Given the description of an element on the screen output the (x, y) to click on. 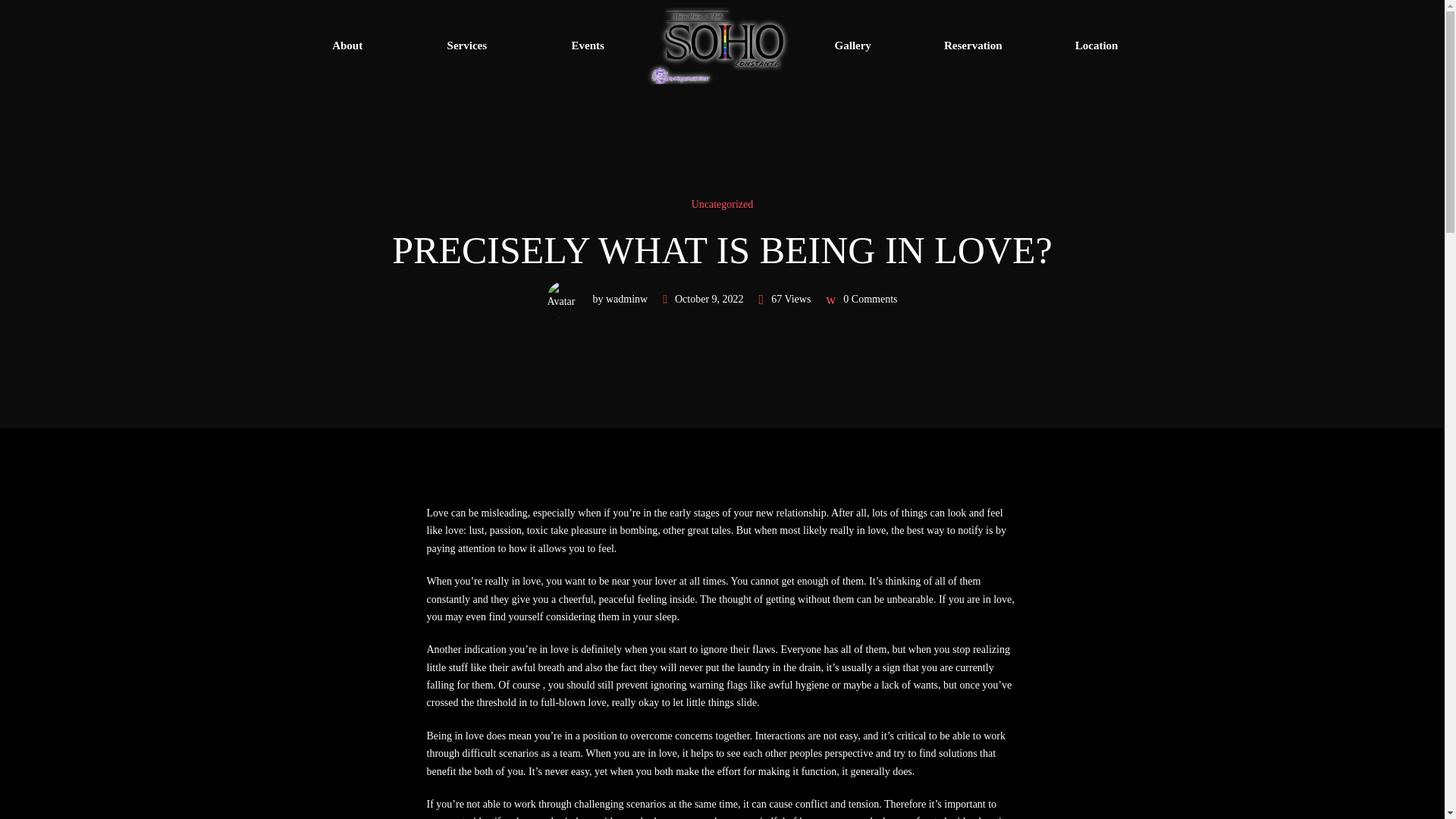
Services (466, 45)
About (346, 45)
Events (587, 45)
Gravatar for wadminw (566, 299)
Uncategorized (722, 204)
Location (1096, 45)
Gallery (852, 45)
Reservation (973, 45)
